Given the description of an element on the screen output the (x, y) to click on. 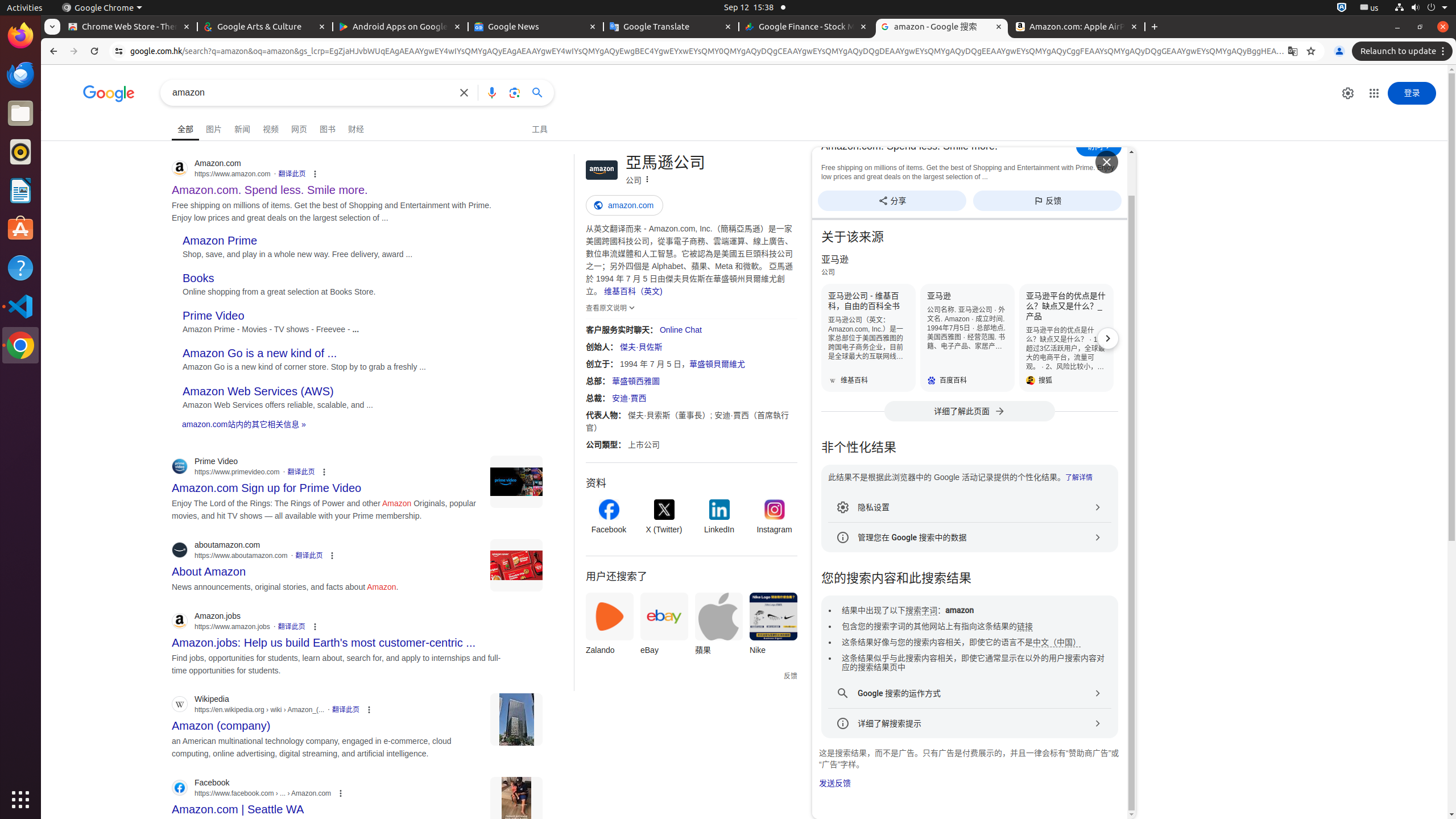
蘋果 Element type: link (718, 627)
Show Applications Element type: toggle-button (20, 799)
華盛頓貝爾維尤 Element type: link (717, 363)
Files Element type: push-button (20, 113)
LibreOffice Writer Element type: push-button (20, 190)
